Given the description of an element on the screen output the (x, y) to click on. 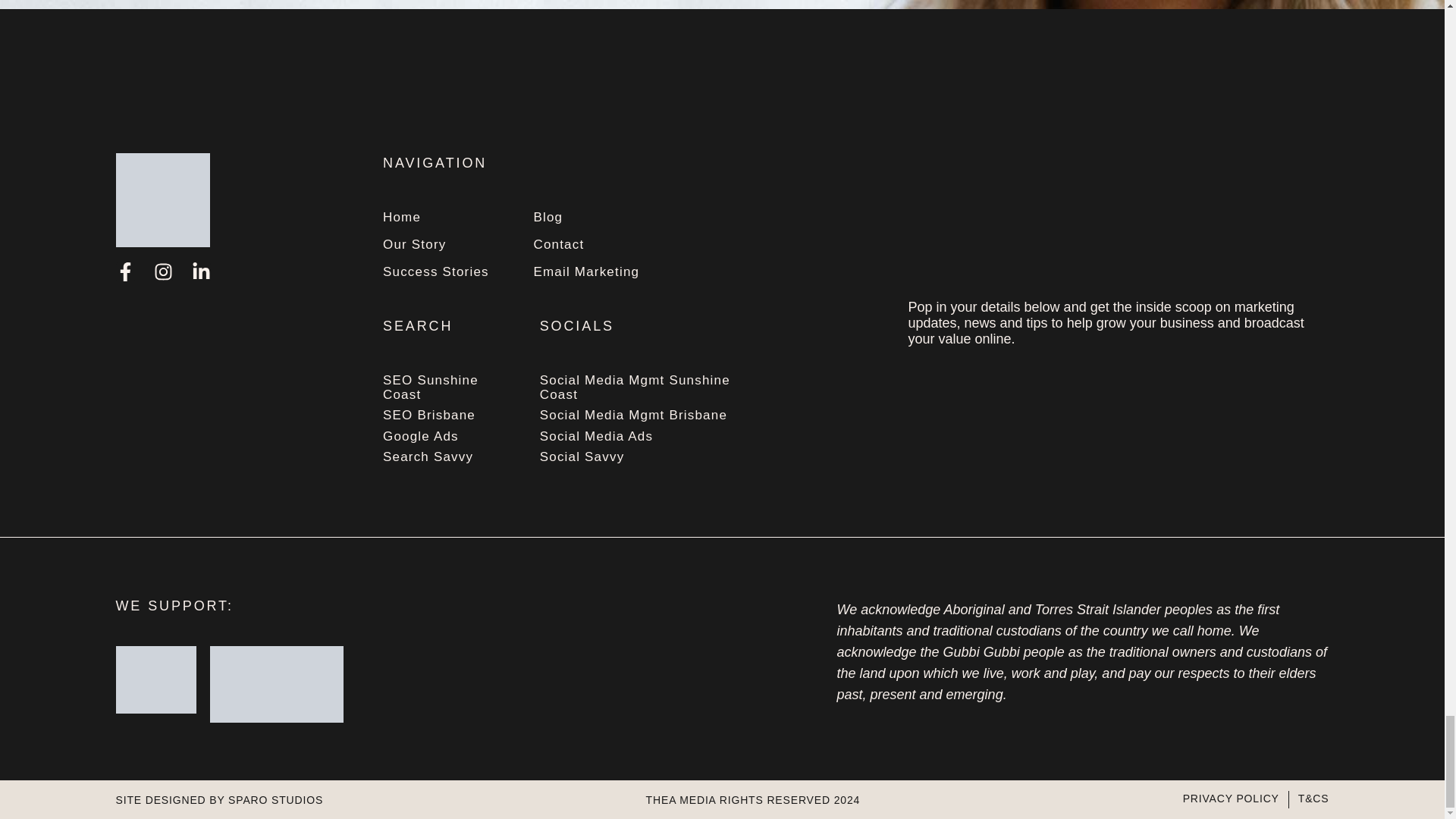
Home (435, 217)
Contact (585, 245)
Email Marketing (585, 272)
Our Story (435, 245)
Blog (585, 217)
Success Stories (435, 272)
